Given the description of an element on the screen output the (x, y) to click on. 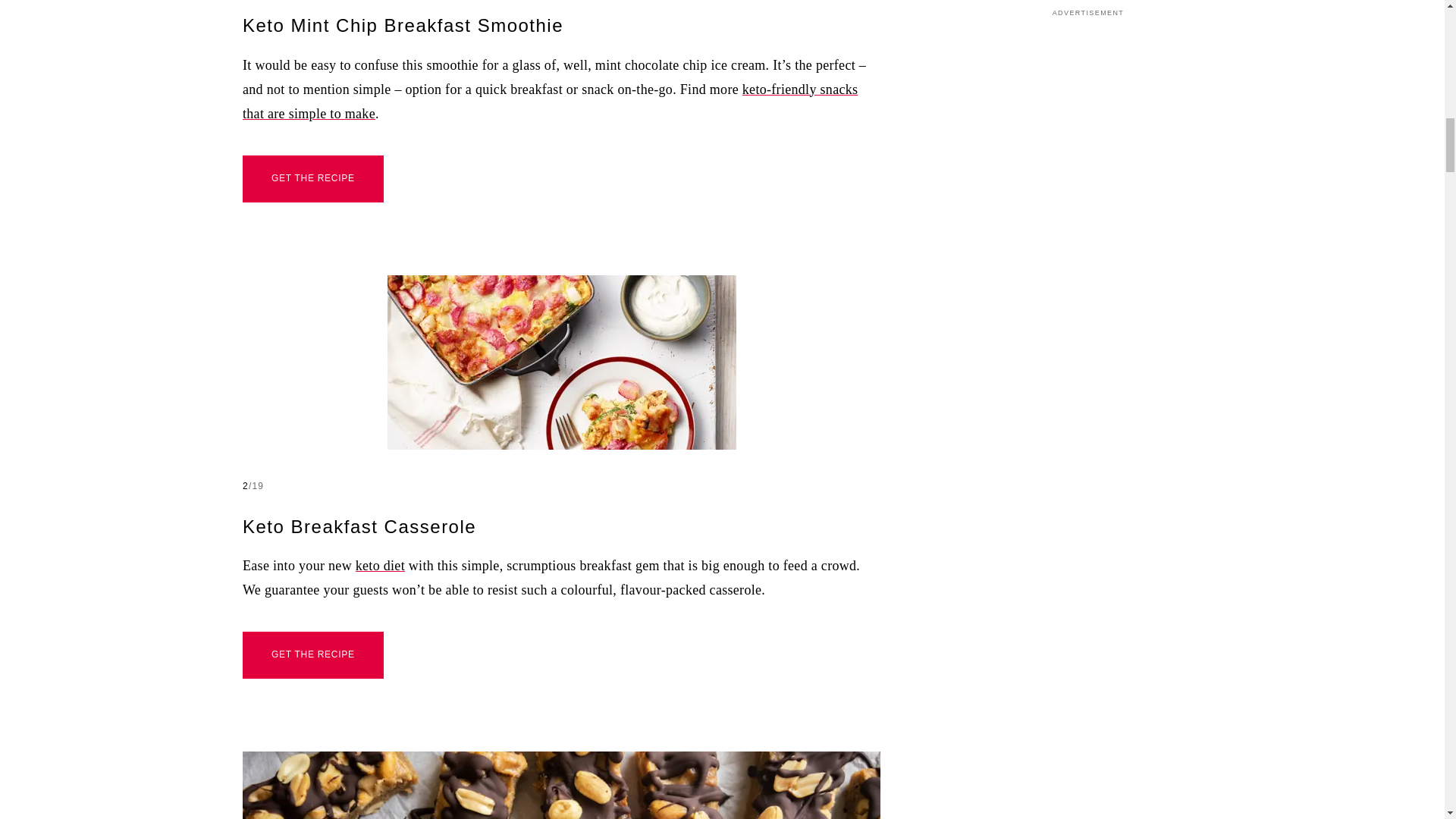
keto-friendly snacks that are simple to make (550, 101)
keto diet (379, 565)
GET THE RECIPE (313, 654)
GET THE RECIPE (313, 178)
